Given the description of an element on the screen output the (x, y) to click on. 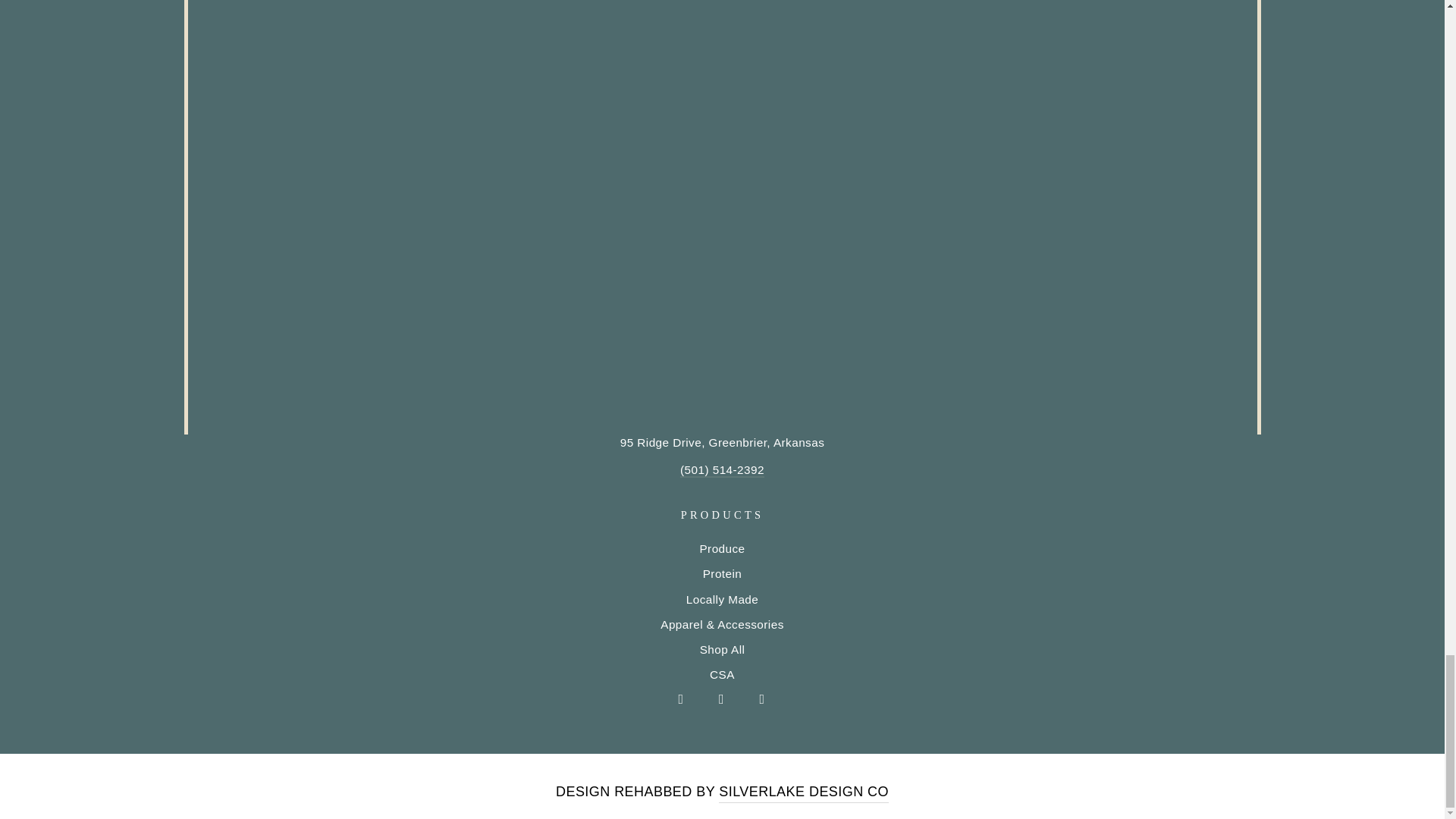
tel: 5015142392 (721, 470)
